Given the description of an element on the screen output the (x, y) to click on. 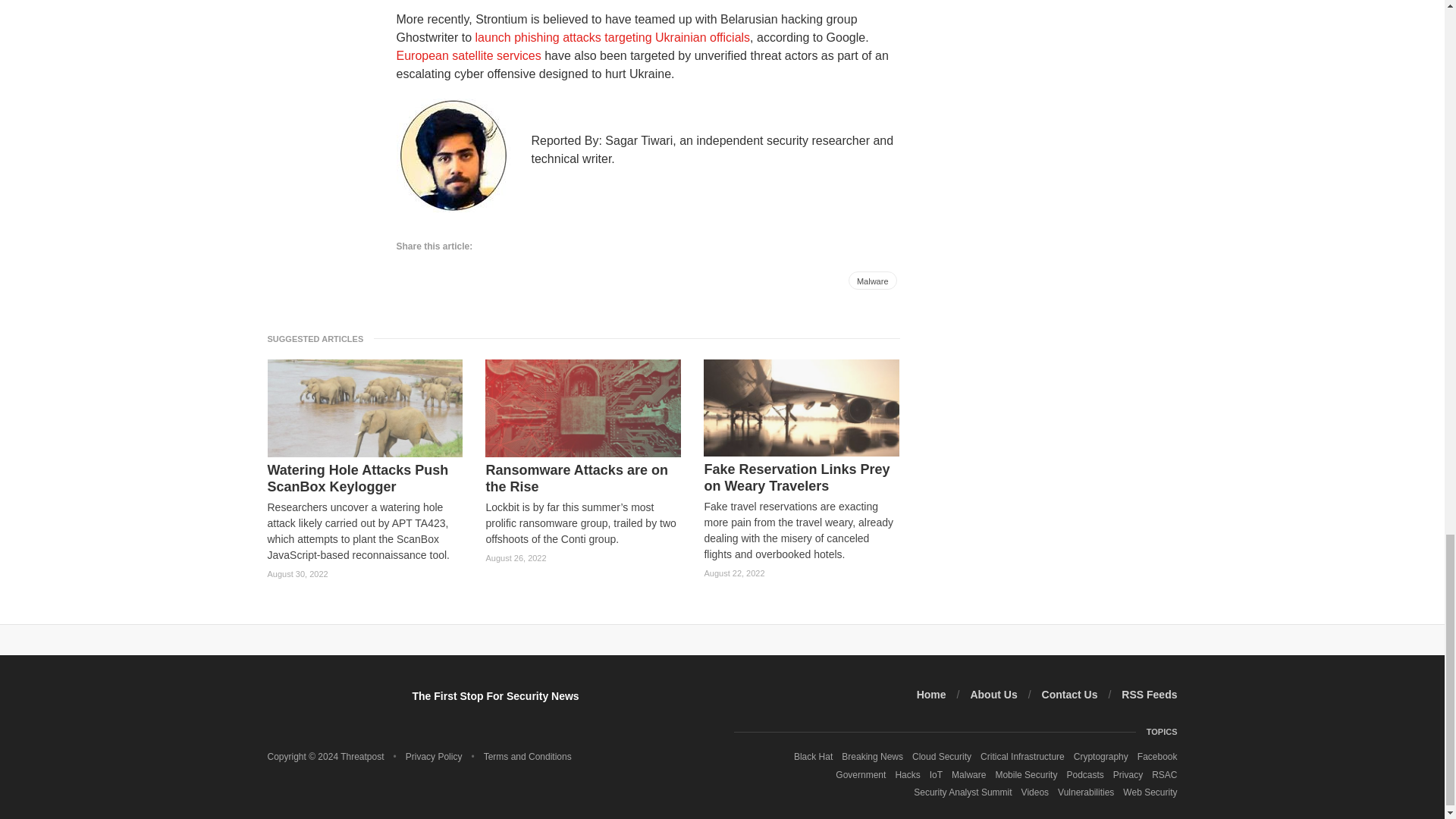
Malware (872, 280)
Fake Reservation Links Prey on Weary Travelers (801, 478)
launch phishing attacks targeting Ukrainian officials (613, 37)
European satellite services (468, 55)
Watering Hole Attacks Push ScanBox Keylogger (364, 478)
Ransomware Attacks are on the Rise (582, 478)
SUGGESTED ARTICLES (319, 338)
